Given the description of an element on the screen output the (x, y) to click on. 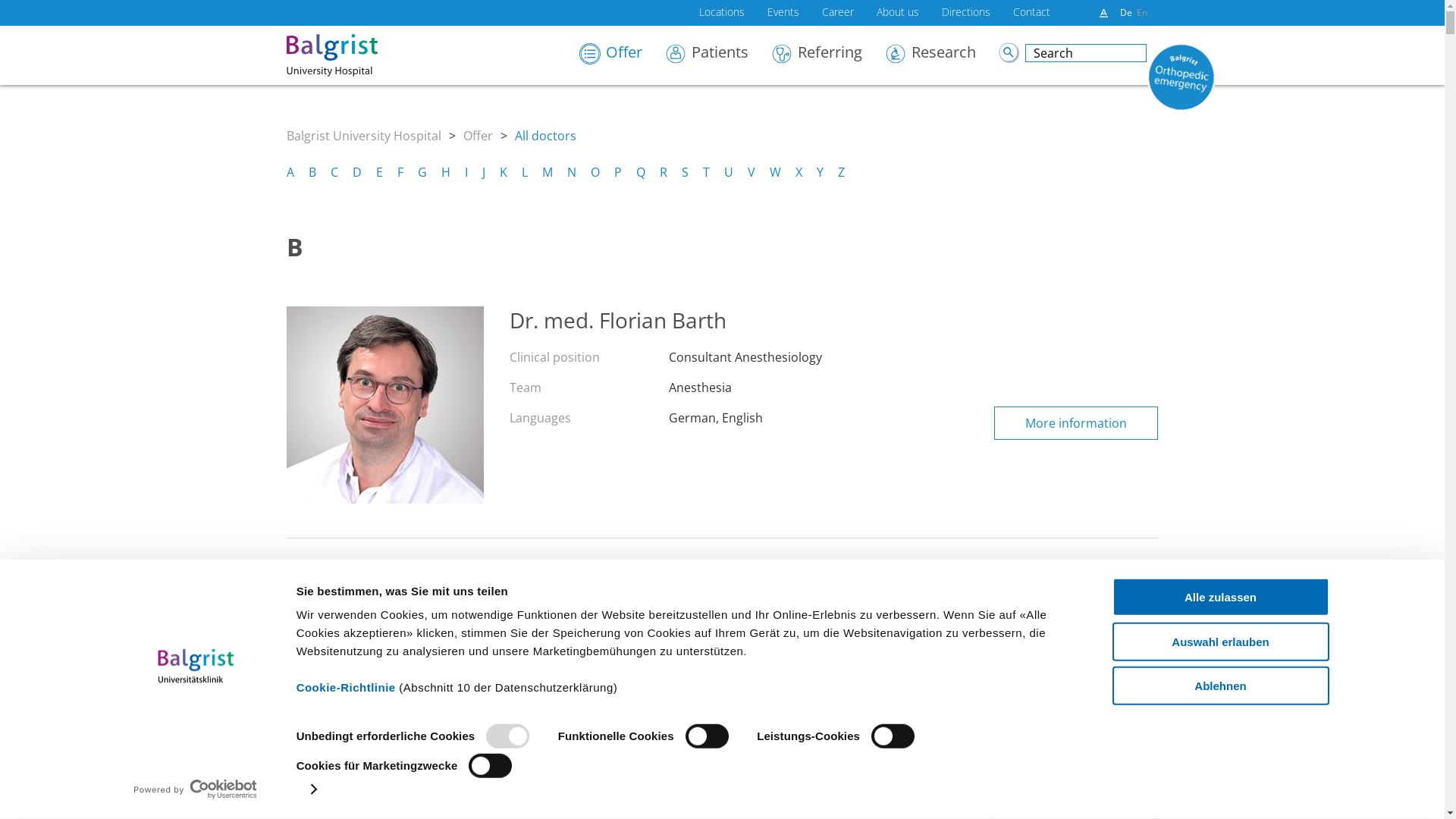
Z Element type: text (840, 171)
O Element type: text (594, 171)
Locations Element type: text (721, 14)
En Element type: text (1140, 12)
  Element type: text (1103, 13)
E Element type: text (379, 171)
De Element type: text (1125, 12)
Offer Element type: text (477, 135)
Offer Element type: text (622, 58)
Auswahl erlauben Element type: text (1219, 640)
Research Element type: text (941, 58)
Directions Element type: text (965, 14)
W Element type: text (774, 171)
I Element type: text (465, 171)
  Element type: text (1372, 744)
Cookie-Richtlinie Element type: text (345, 686)
Q Element type: text (639, 171)
F Element type: text (400, 171)
K Element type: text (502, 171)
S Element type: text (683, 171)
G Element type: text (421, 171)
Alle zulassen Element type: text (1219, 596)
Balgrist University Hospital Element type: text (363, 135)
M Element type: text (546, 171)
B Element type: text (311, 171)
D Element type: text (355, 171)
Y Element type: text (818, 171)
V Element type: text (751, 171)
R Element type: text (663, 171)
U Element type: text (727, 171)
More information Element type: text (1075, 422)
C Element type: text (334, 171)
T Element type: text (705, 171)
Ablehnen Element type: text (1219, 685)
Patients Element type: text (718, 58)
N Element type: text (571, 171)
Contact Element type: text (1031, 14)
X Element type: text (797, 171)
H Element type: text (445, 171)
J Element type: text (483, 171)
Career Element type: text (837, 14)
A Element type: text (290, 171)
About us Element type: text (897, 14)
P Element type: text (617, 171)
  Element type: text (1008, 52)
Events Element type: text (783, 14)
Referring Element type: text (827, 58)
L Element type: text (524, 171)
